Given the description of an element on the screen output the (x, y) to click on. 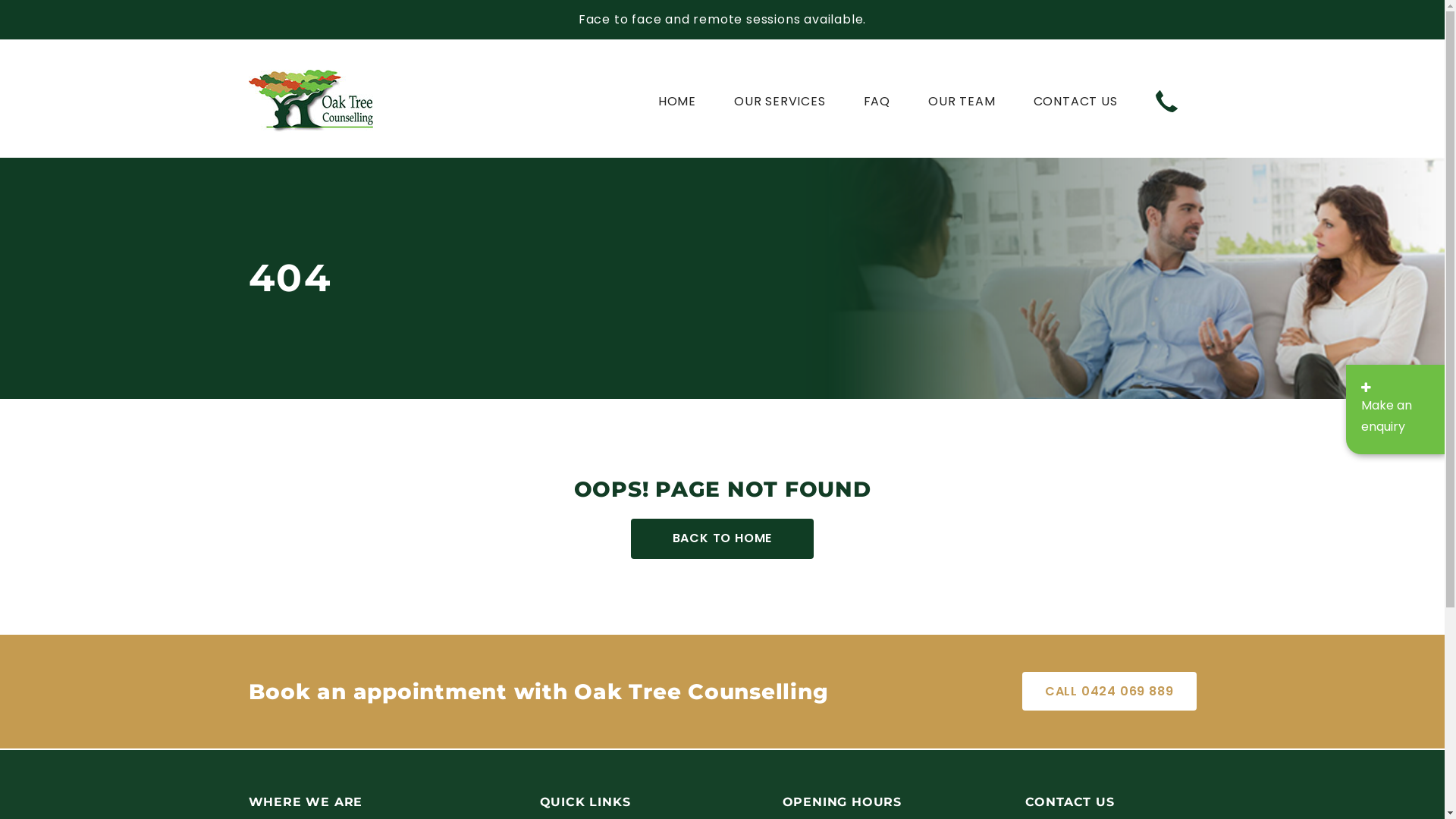
HOME Element type: text (677, 110)
BACK TO HOME Element type: text (722, 538)
CALL 0424 069 889 Element type: text (1109, 690)
OUR SERVICES Element type: text (779, 110)
FAQ Element type: text (876, 110)
CONTACT US Element type: text (1075, 110)
OUR TEAM Element type: text (961, 110)
